Given the description of an element on the screen output the (x, y) to click on. 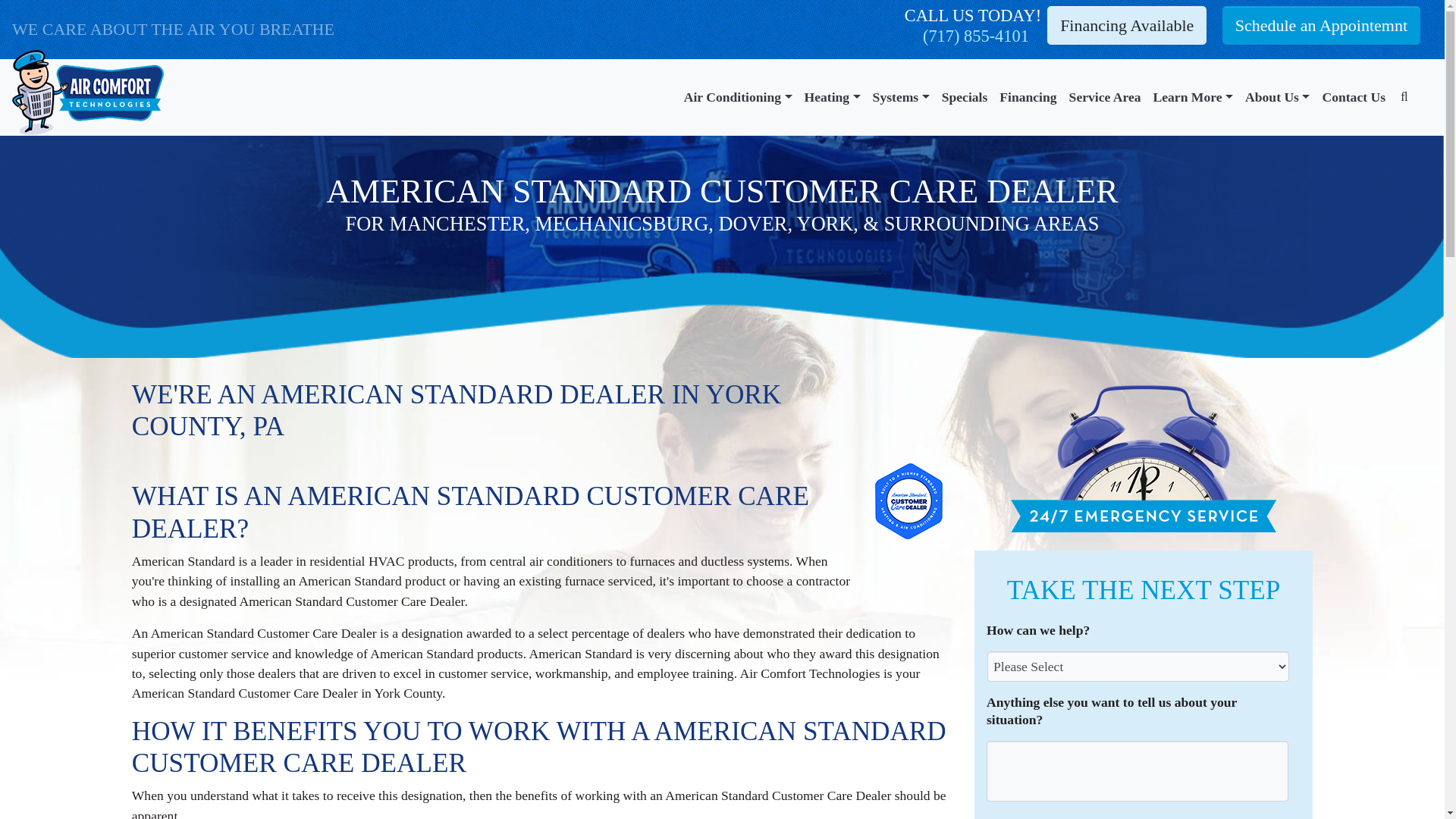
Learn More (1193, 97)
Systems (901, 97)
About Us (1277, 97)
Specials (965, 97)
Financing Available (1126, 25)
Heating (831, 97)
Service Area (1104, 97)
Air Conditioning (737, 97)
Schedule an Appointemnt (1322, 25)
Financing (1027, 97)
